Given the description of an element on the screen output the (x, y) to click on. 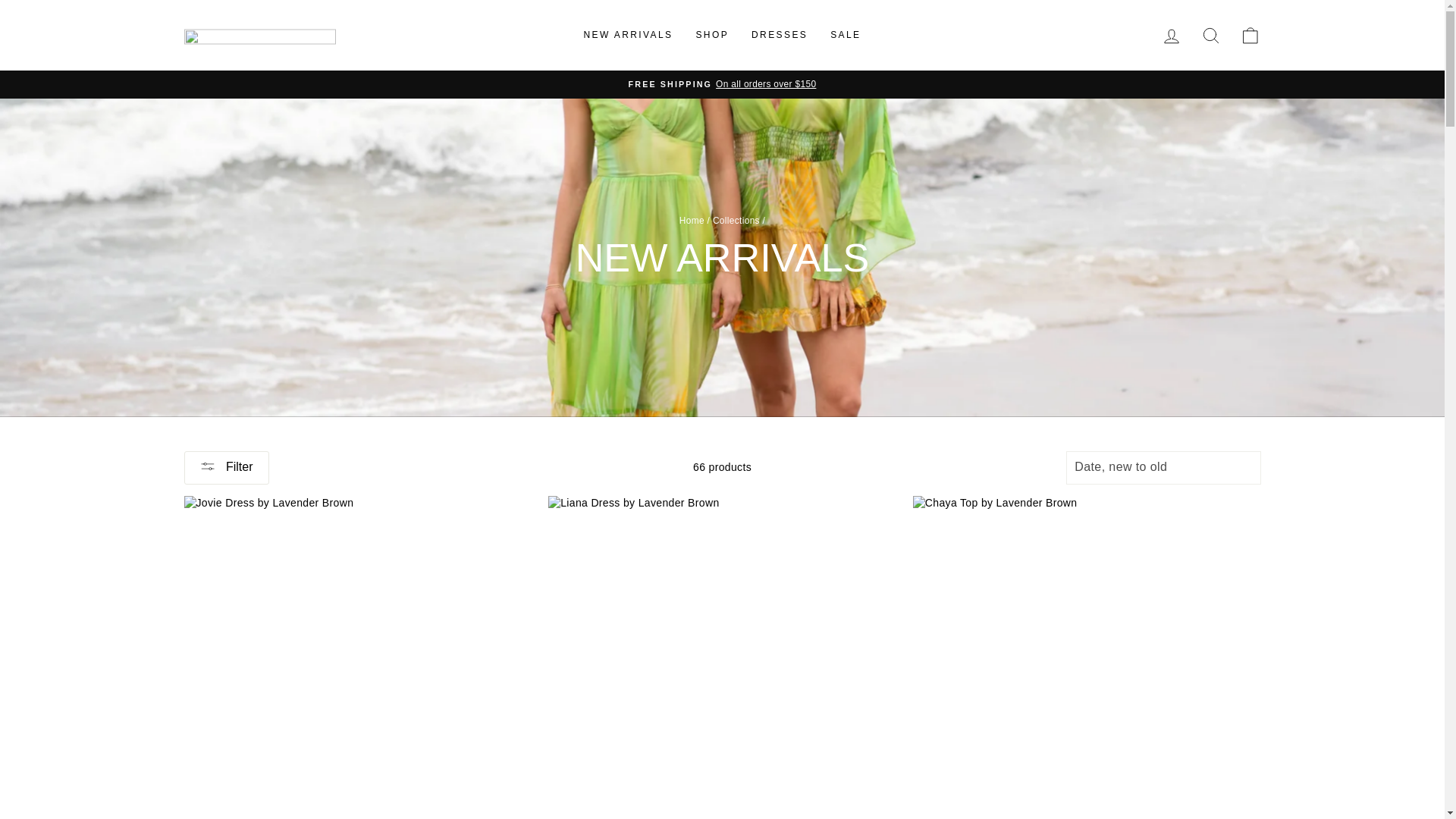
Back to the frontpage (691, 220)
NEW ARRIVALS (628, 35)
ICON-BAG-MINIMAL (1249, 35)
ICON-SEARCH (1210, 35)
ACCOUNT (1170, 35)
icon-filter (207, 466)
